Given the description of an element on the screen output the (x, y) to click on. 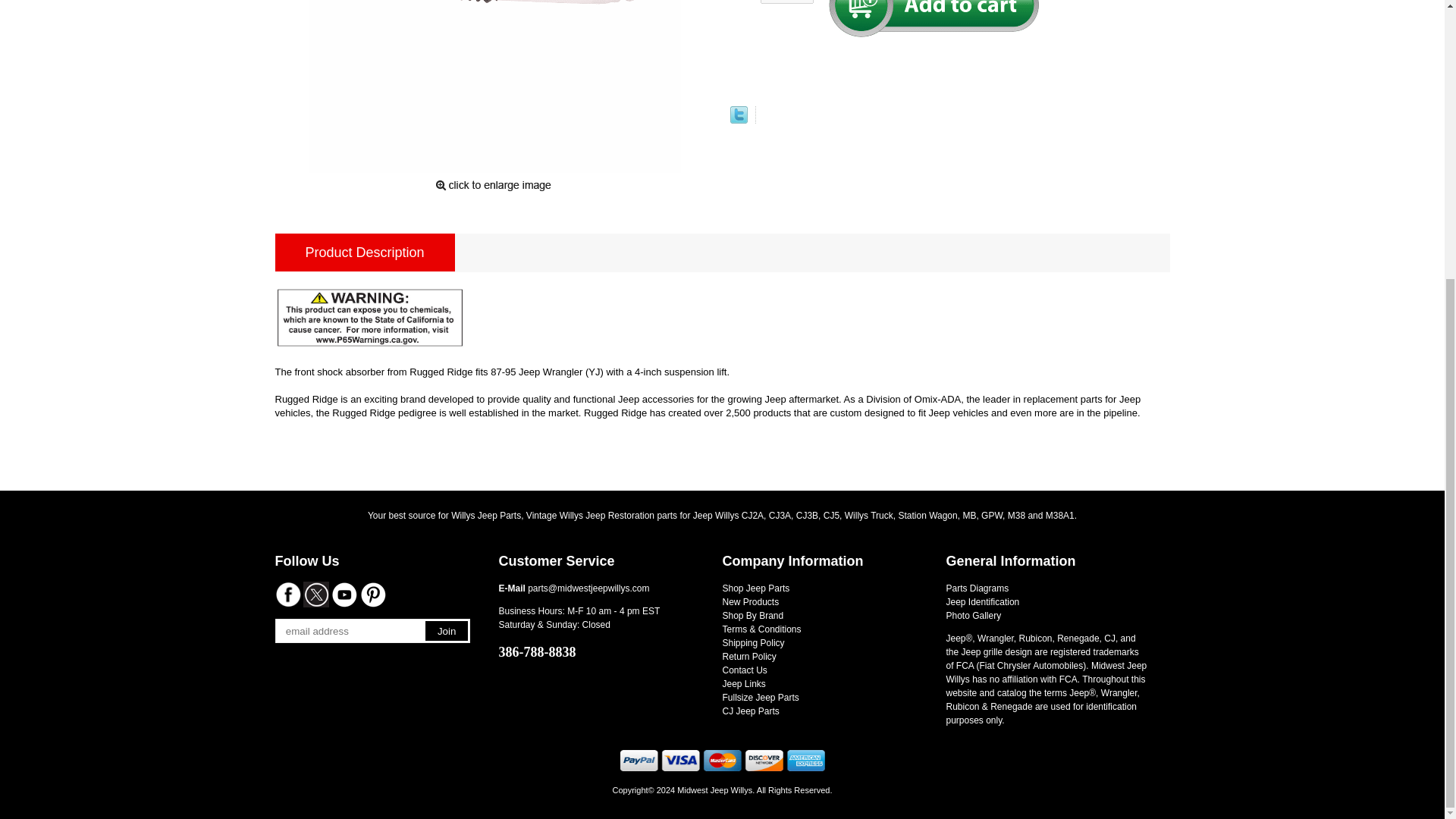
Shipping Policy (753, 643)
Shop By Brand (752, 615)
Parts Diagrams (977, 588)
Contact Us (744, 670)
Shop By Brand (752, 615)
Jeep Identification (983, 602)
New Products (750, 602)
Join (445, 630)
Tweet (737, 120)
Midwest Jeep Willys X (315, 594)
Shipping Policy (753, 643)
CJ Jeep Parts (750, 710)
Shop Jeep Parts (755, 588)
CJ Jeep Parts (750, 710)
Add to Cart (933, 18)
